Given the description of an element on the screen output the (x, y) to click on. 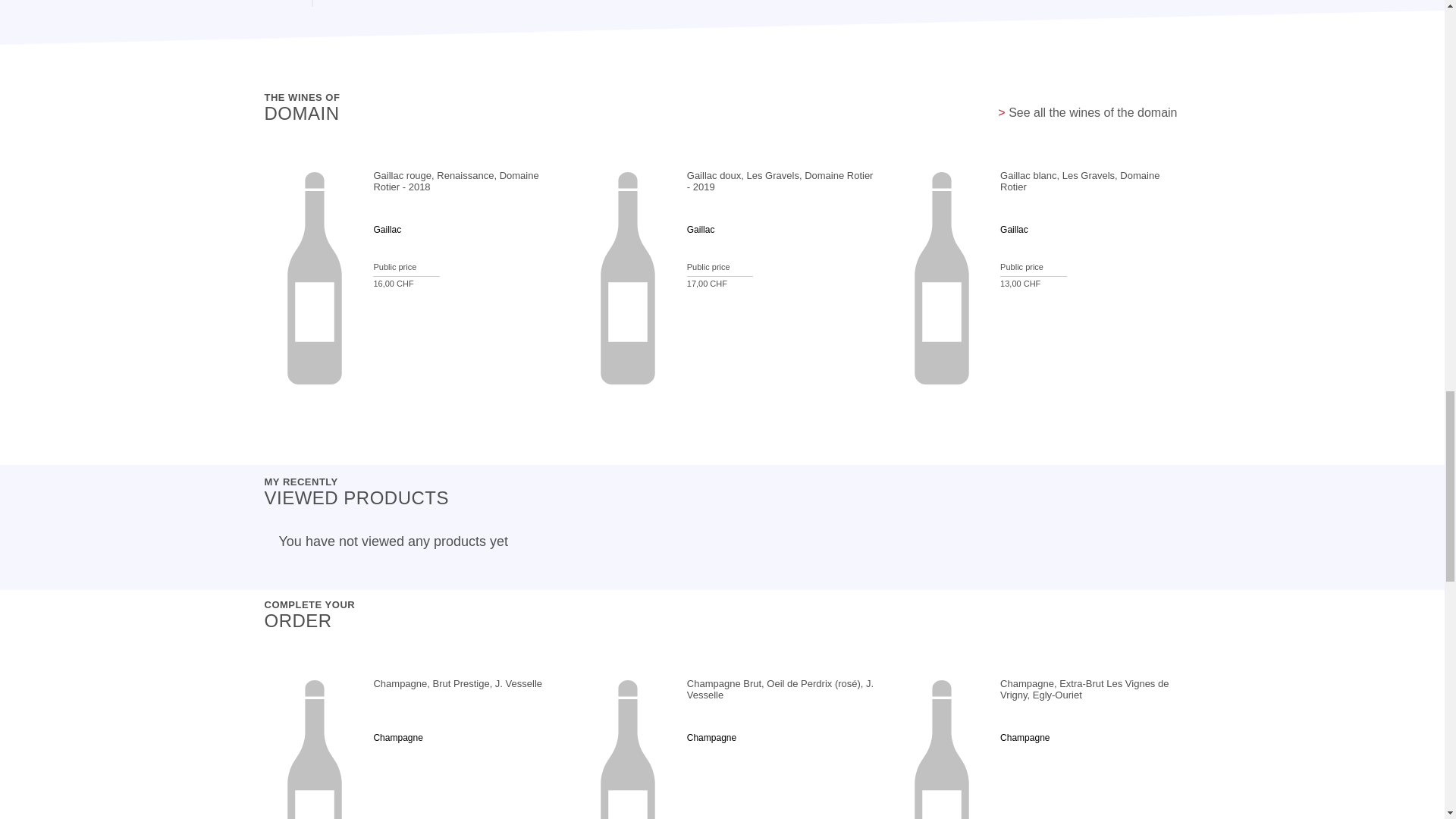
See all the wines of the domain Rotier (1086, 112)
Red wine (387, 248)
